Given the description of an element on the screen output the (x, y) to click on. 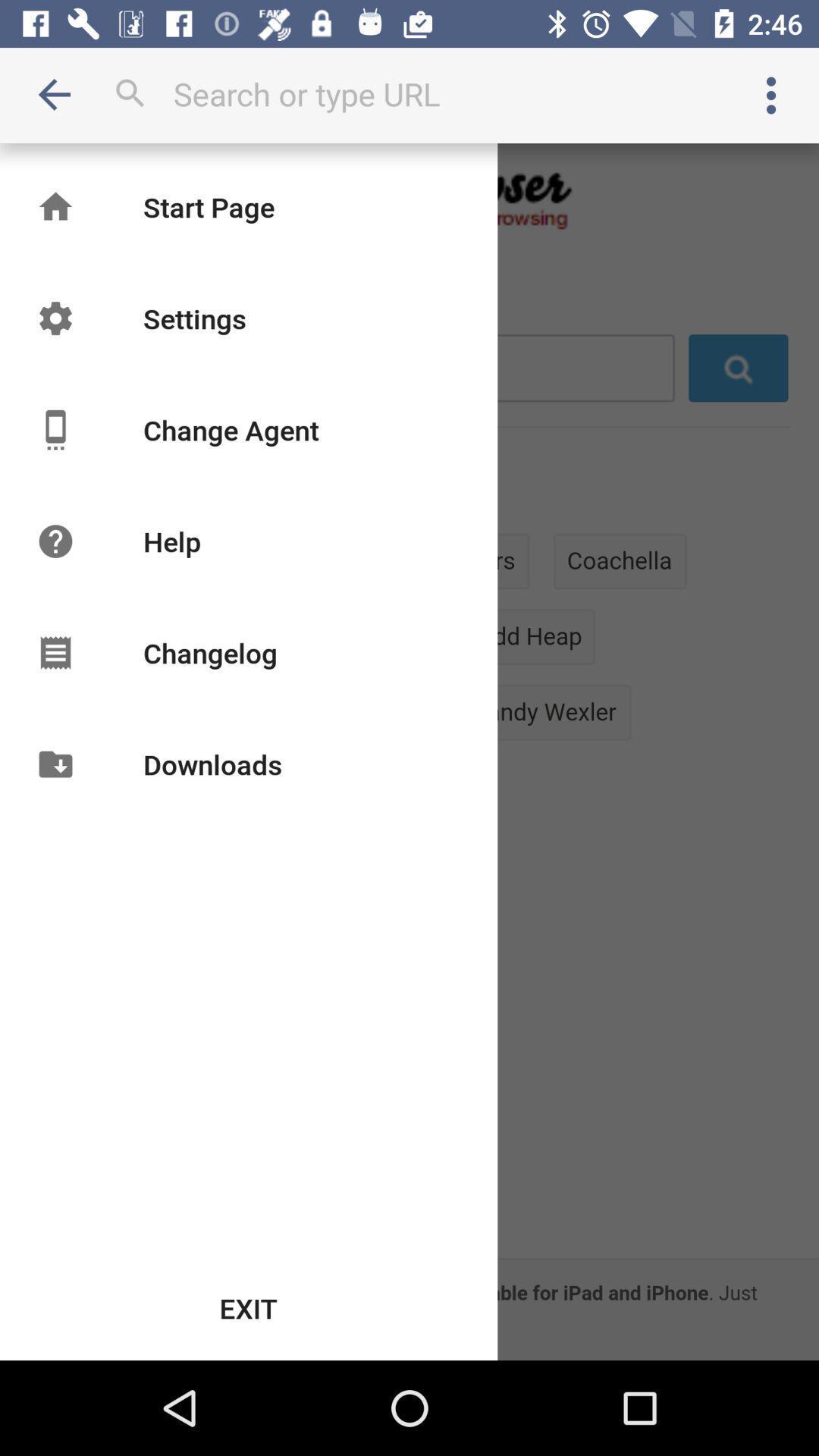
tap the item above exit (212, 764)
